Given the description of an element on the screen output the (x, y) to click on. 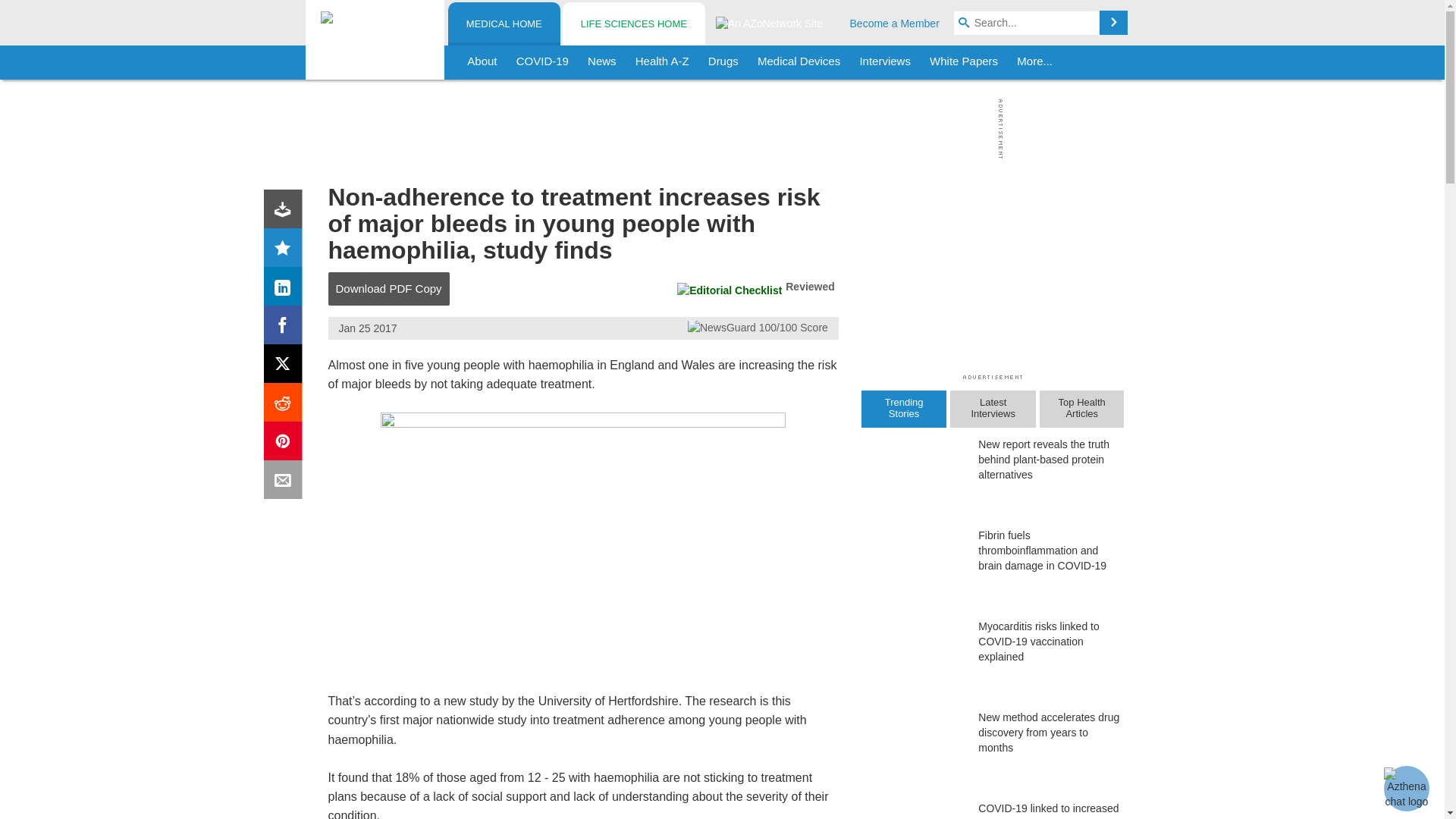
News (601, 62)
X (285, 366)
Email (285, 483)
Health A-Z (662, 62)
LIFE SCIENCES HOME (633, 23)
Reddit (285, 405)
Interviews (884, 62)
Download PDF copy (285, 212)
White Papers (963, 62)
